Given the description of an element on the screen output the (x, y) to click on. 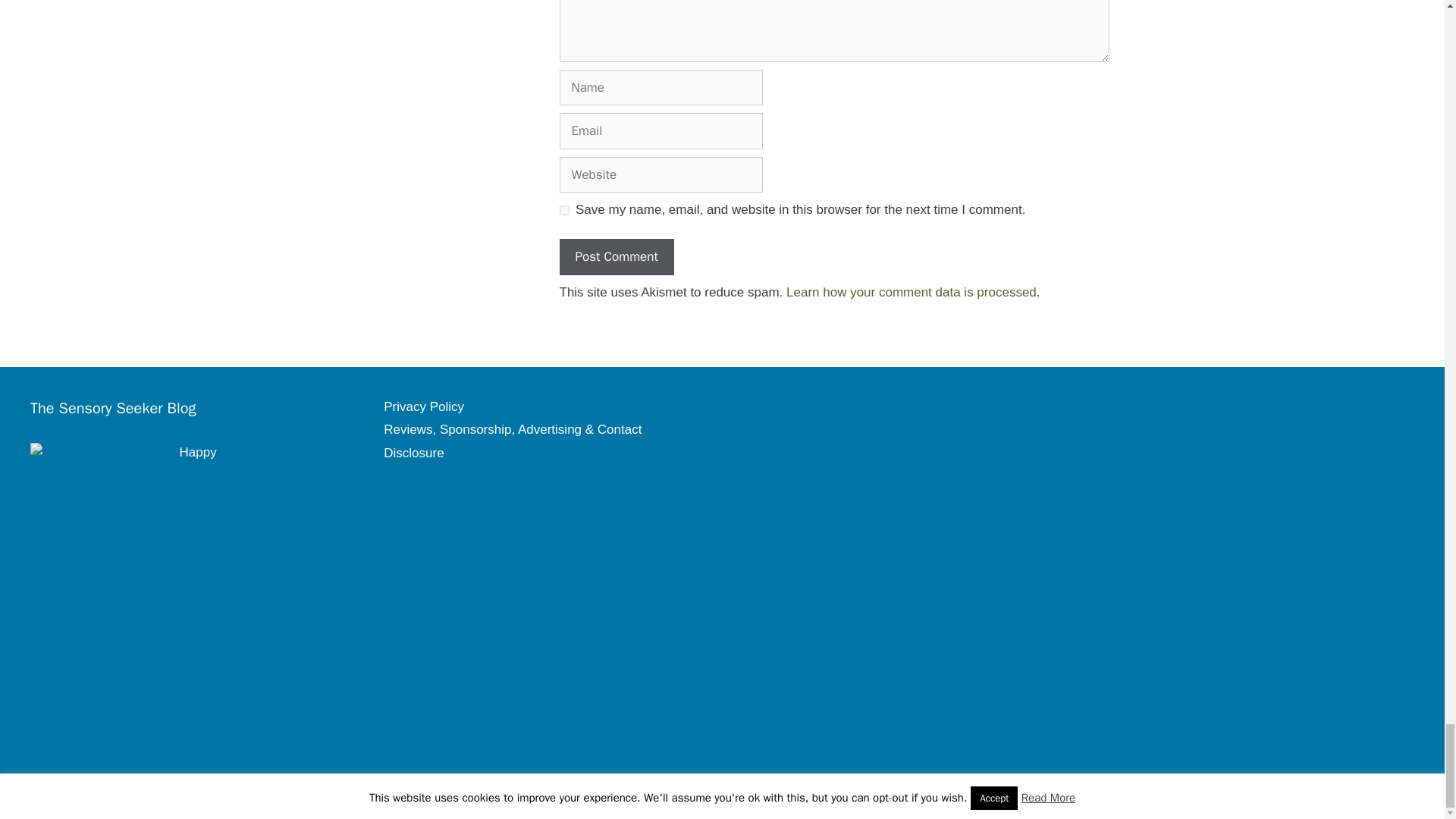
yes (564, 210)
Post Comment (616, 257)
